Given the description of an element on the screen output the (x, y) to click on. 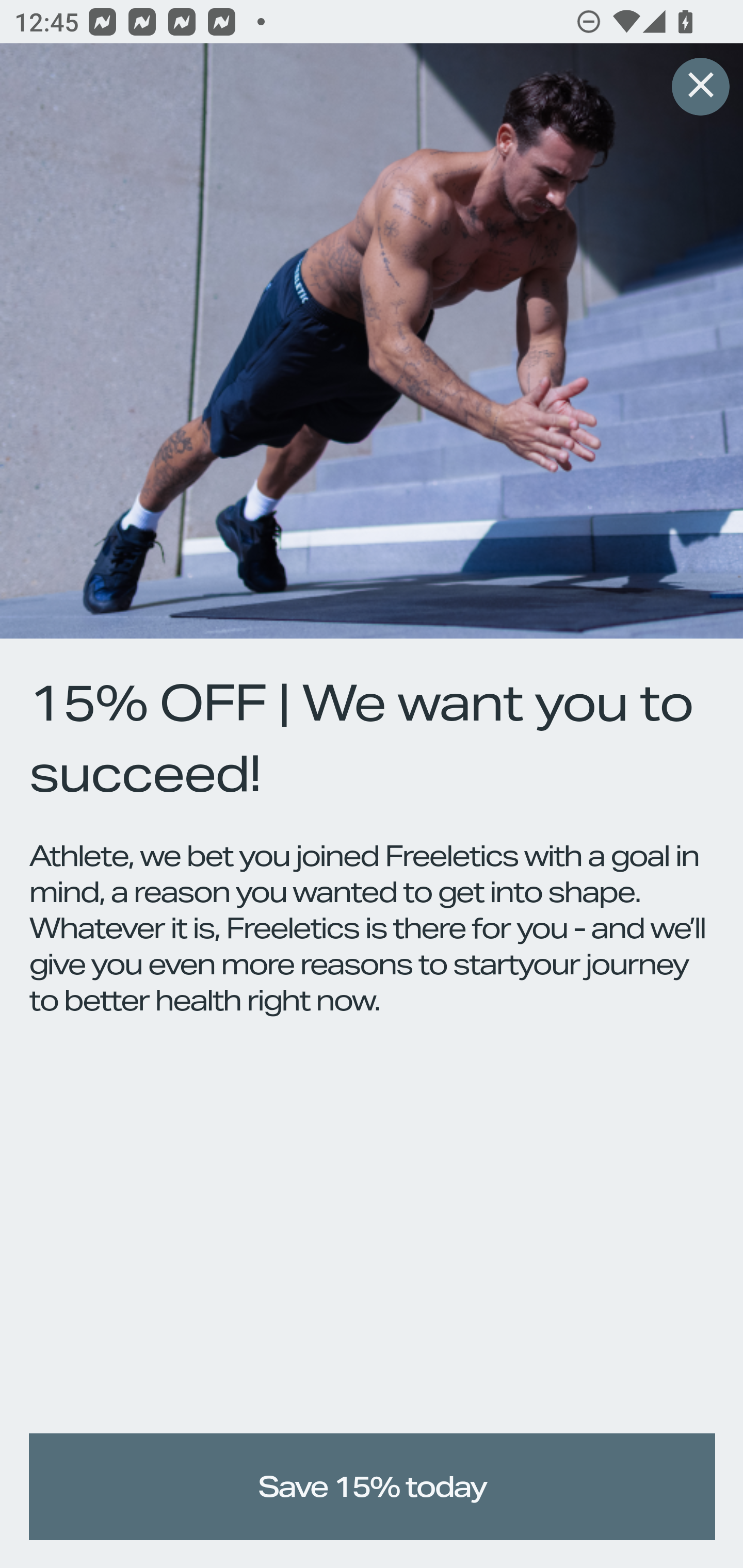
# 315627333 (700, 87)
Save 15% today (372, 1486)
